Given the description of an element on the screen output the (x, y) to click on. 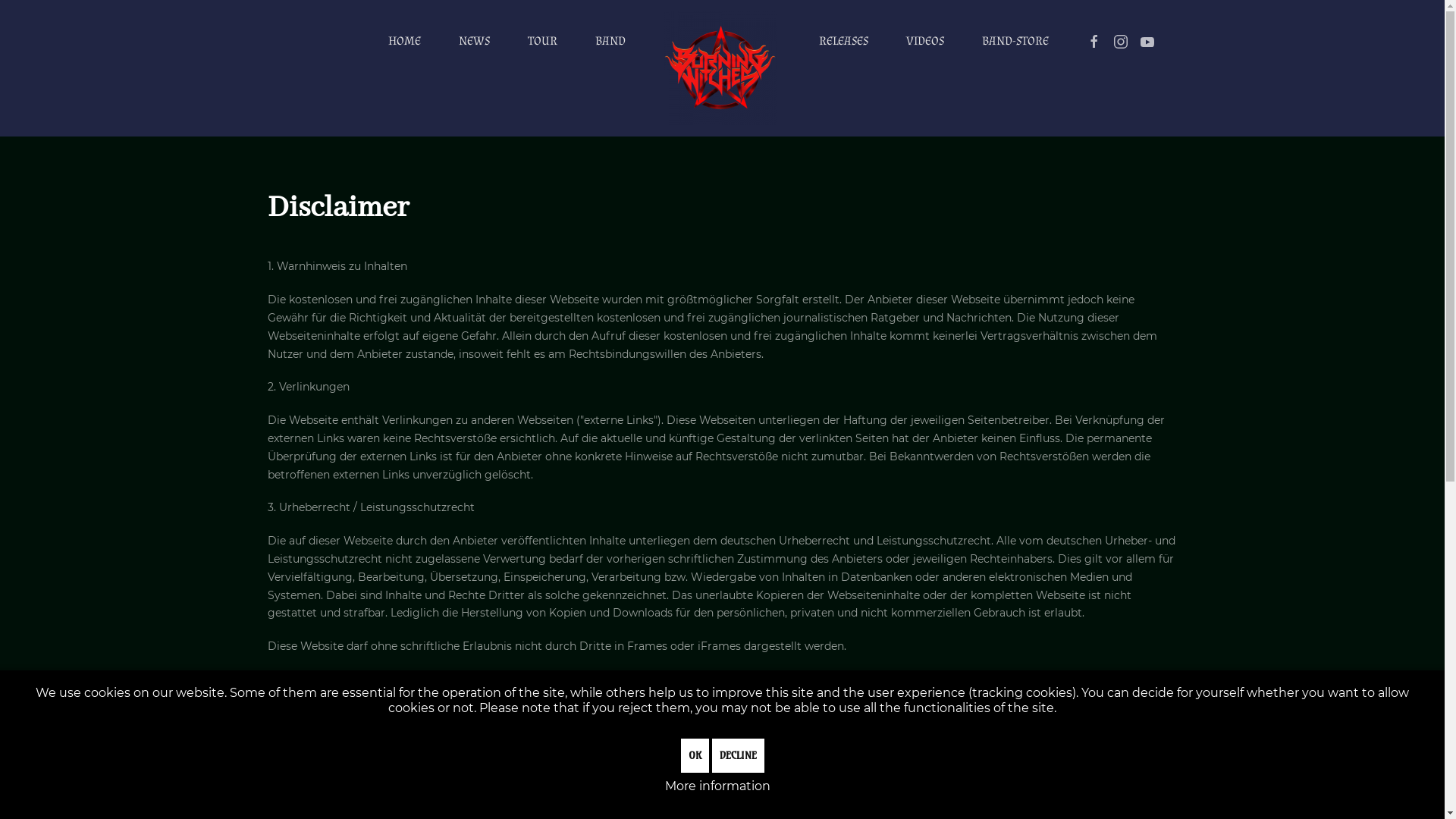
BAND-STORE Element type: text (1015, 41)
RELEASES Element type: text (843, 41)
VIDEOS Element type: text (925, 41)
HOME Element type: text (404, 41)
OK Element type: text (694, 755)
TOUR Element type: text (542, 41)
More information Element type: text (717, 785)
NEWS Element type: text (473, 41)
BAND Element type: text (610, 41)
DECLINE Element type: text (737, 755)
